Given the description of an element on the screen output the (x, y) to click on. 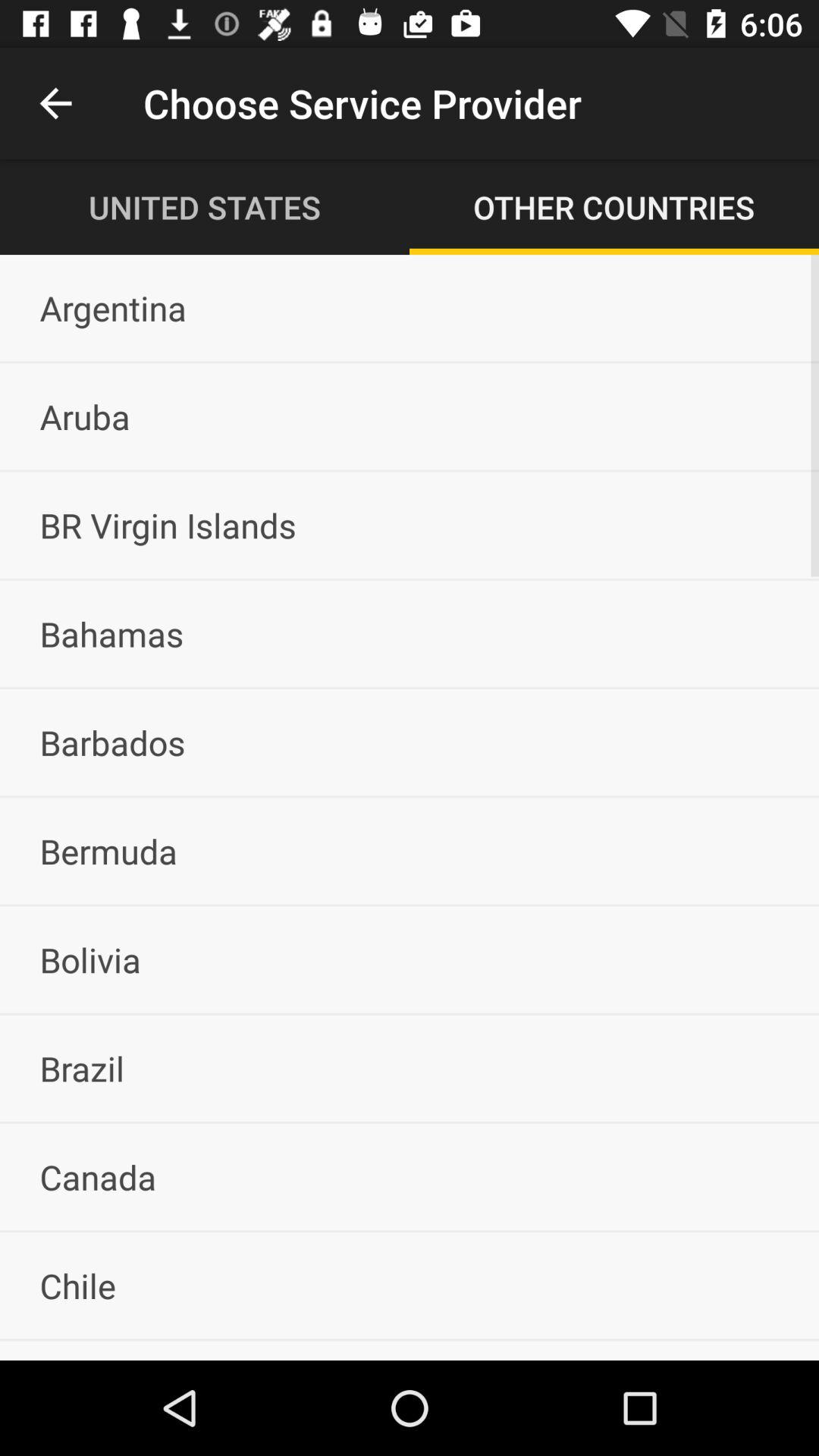
tap the item below the bolivia item (409, 1068)
